Given the description of an element on the screen output the (x, y) to click on. 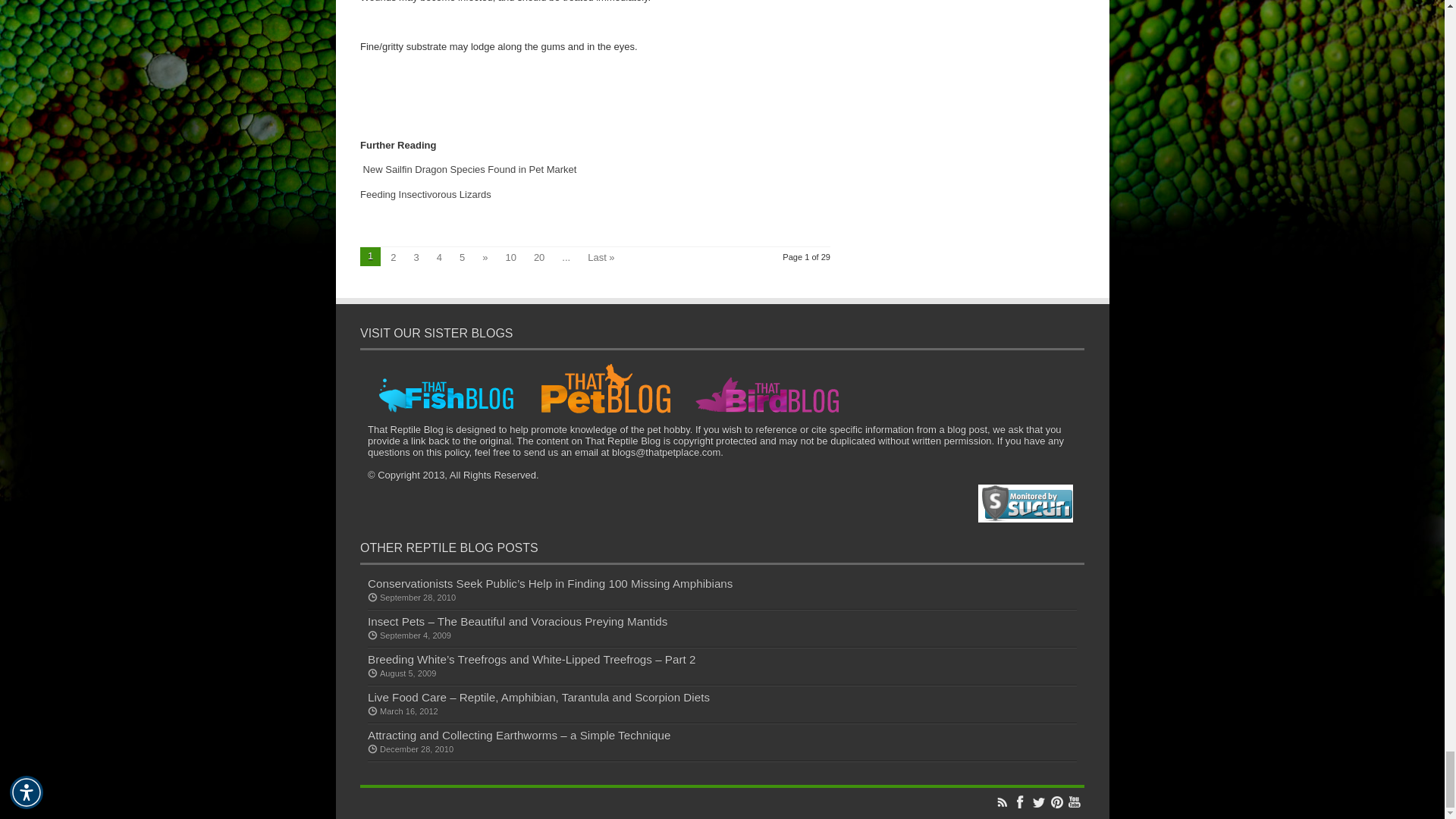
5 (461, 256)
4 (439, 256)
2 (392, 256)
3 (416, 256)
